Given the description of an element on the screen output the (x, y) to click on. 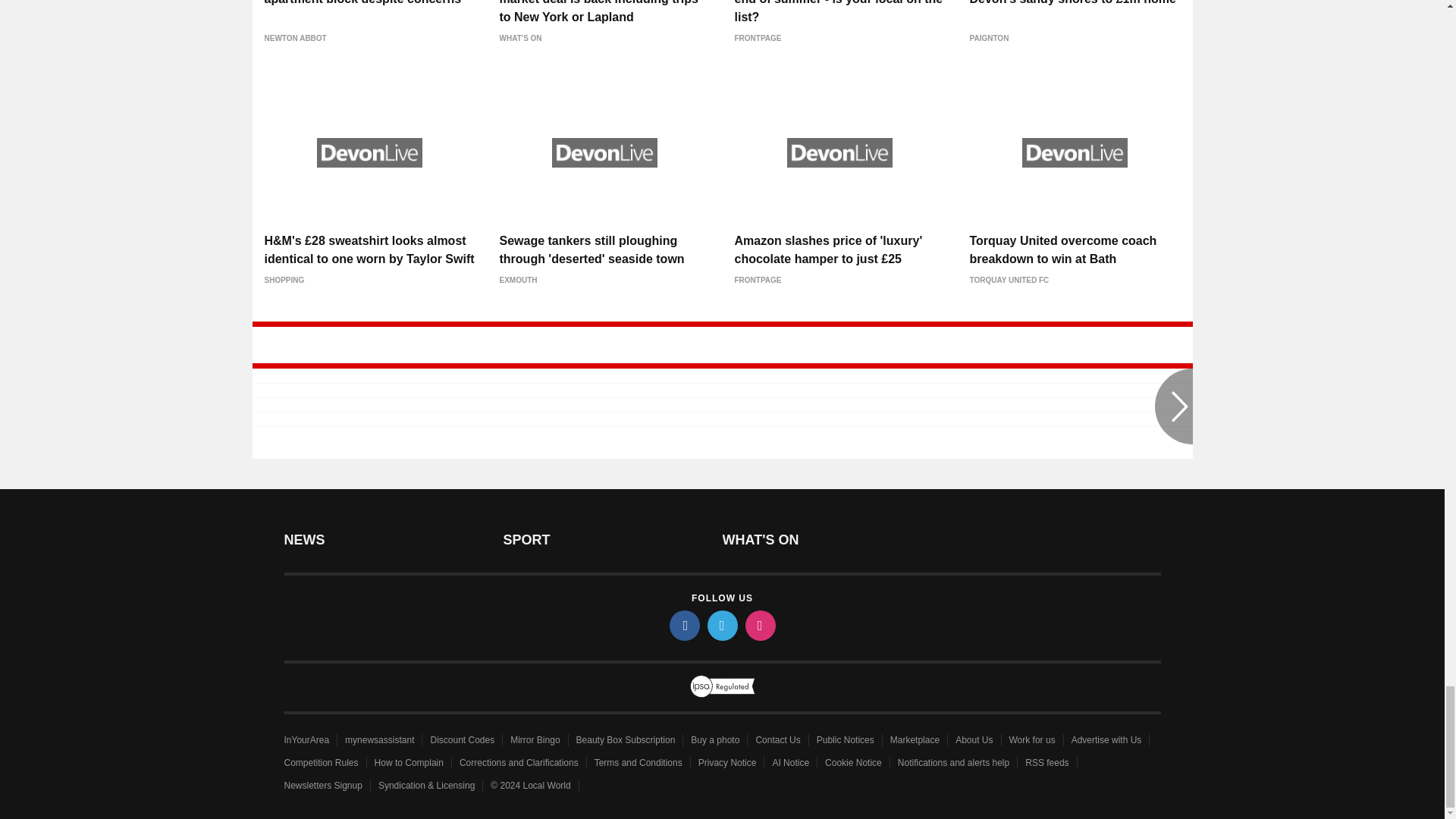
twitter (721, 625)
facebook (683, 625)
instagram (759, 625)
